Given the description of an element on the screen output the (x, y) to click on. 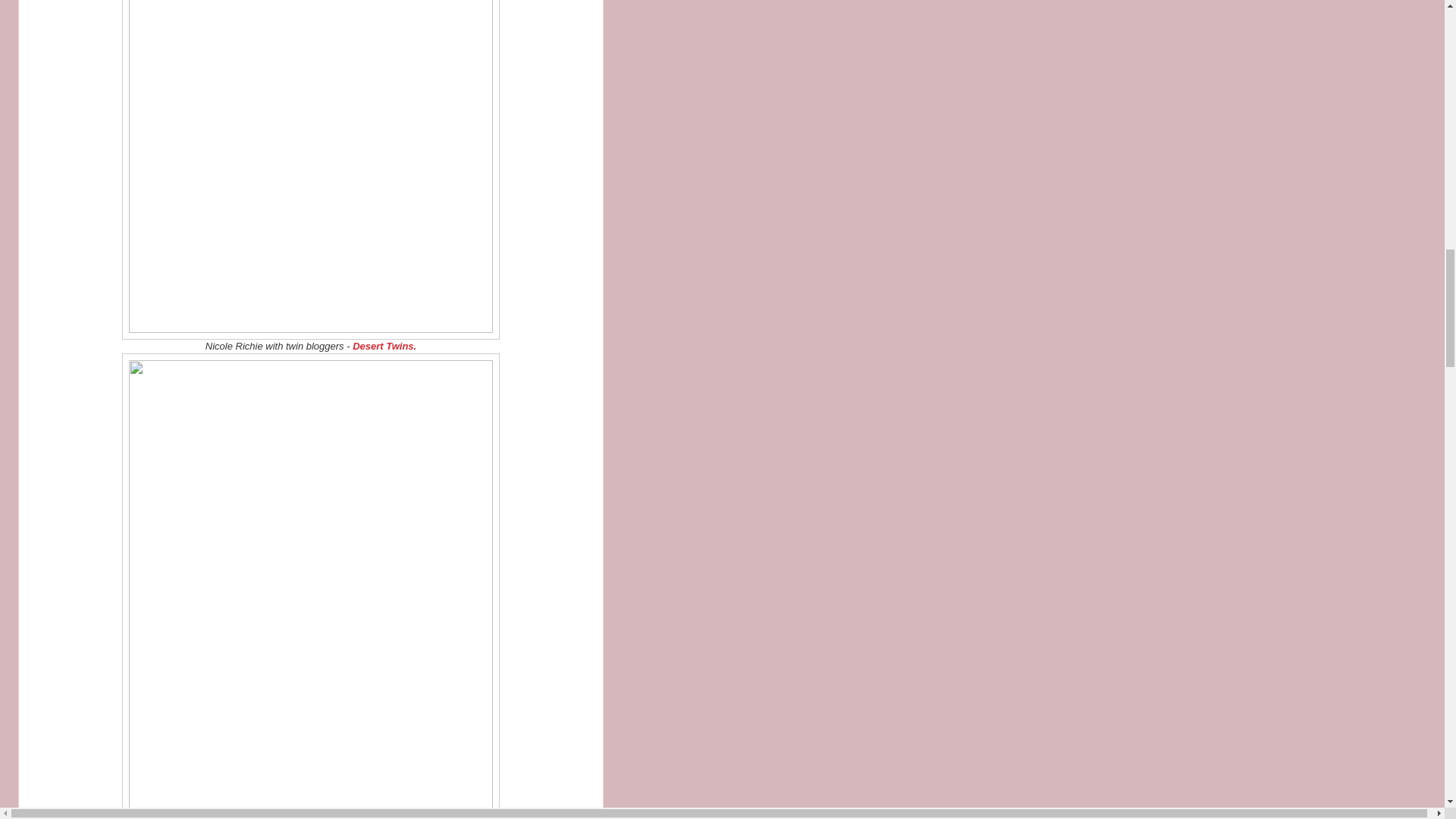
Desert Twins. (384, 346)
